Given the description of an element on the screen output the (x, y) to click on. 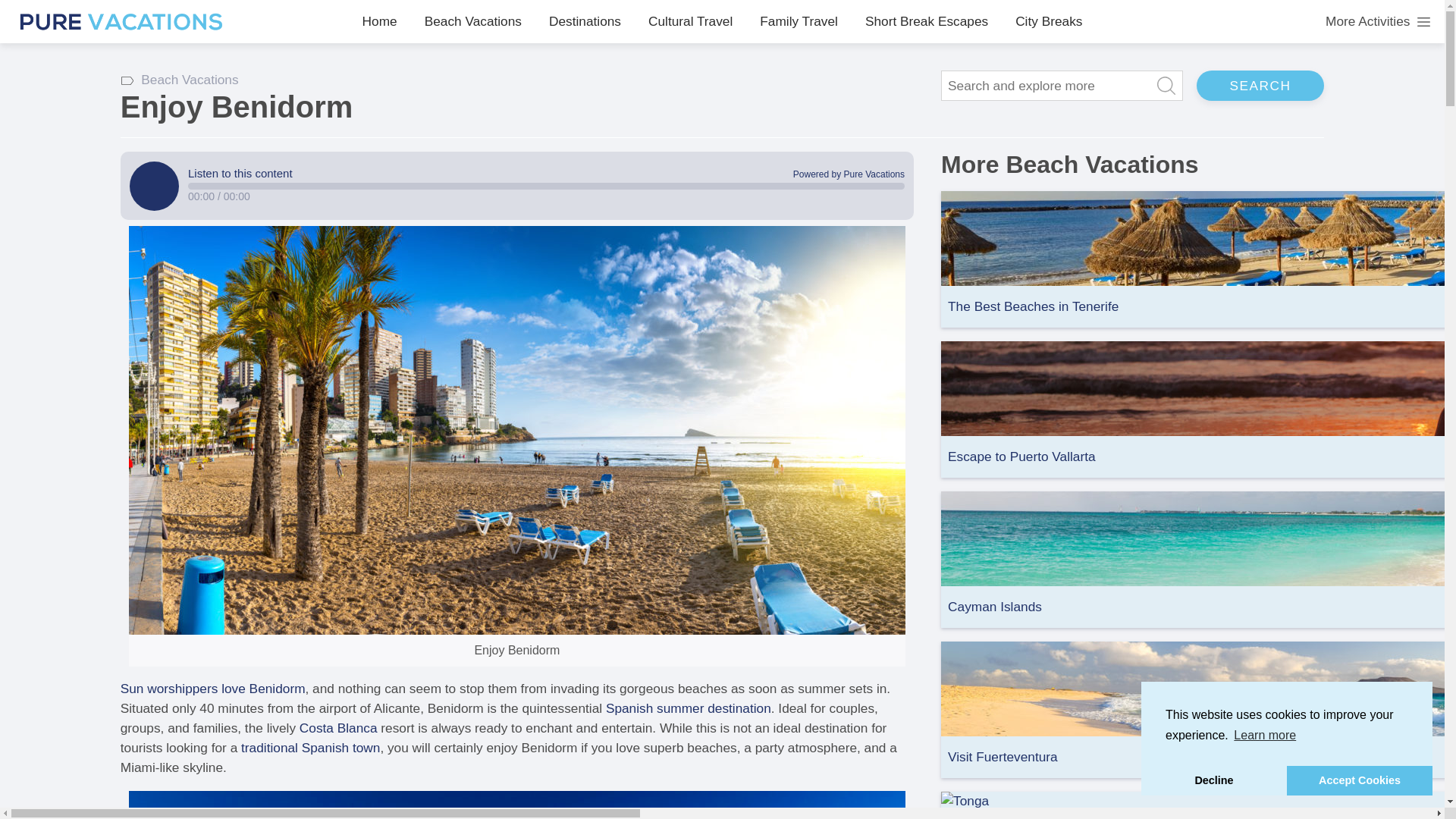
Family Travel (799, 20)
Home (379, 20)
Costa Blanca (338, 727)
Beach Vacations (473, 20)
Sun worshippers love Benidorm (212, 688)
Learn more (1264, 734)
Cultural Travel (689, 20)
Destinations (584, 20)
More Activities (1377, 21)
Pure Vacations -  Travel Articles with Luxury and Adventure (120, 21)
